Given the description of an element on the screen output the (x, y) to click on. 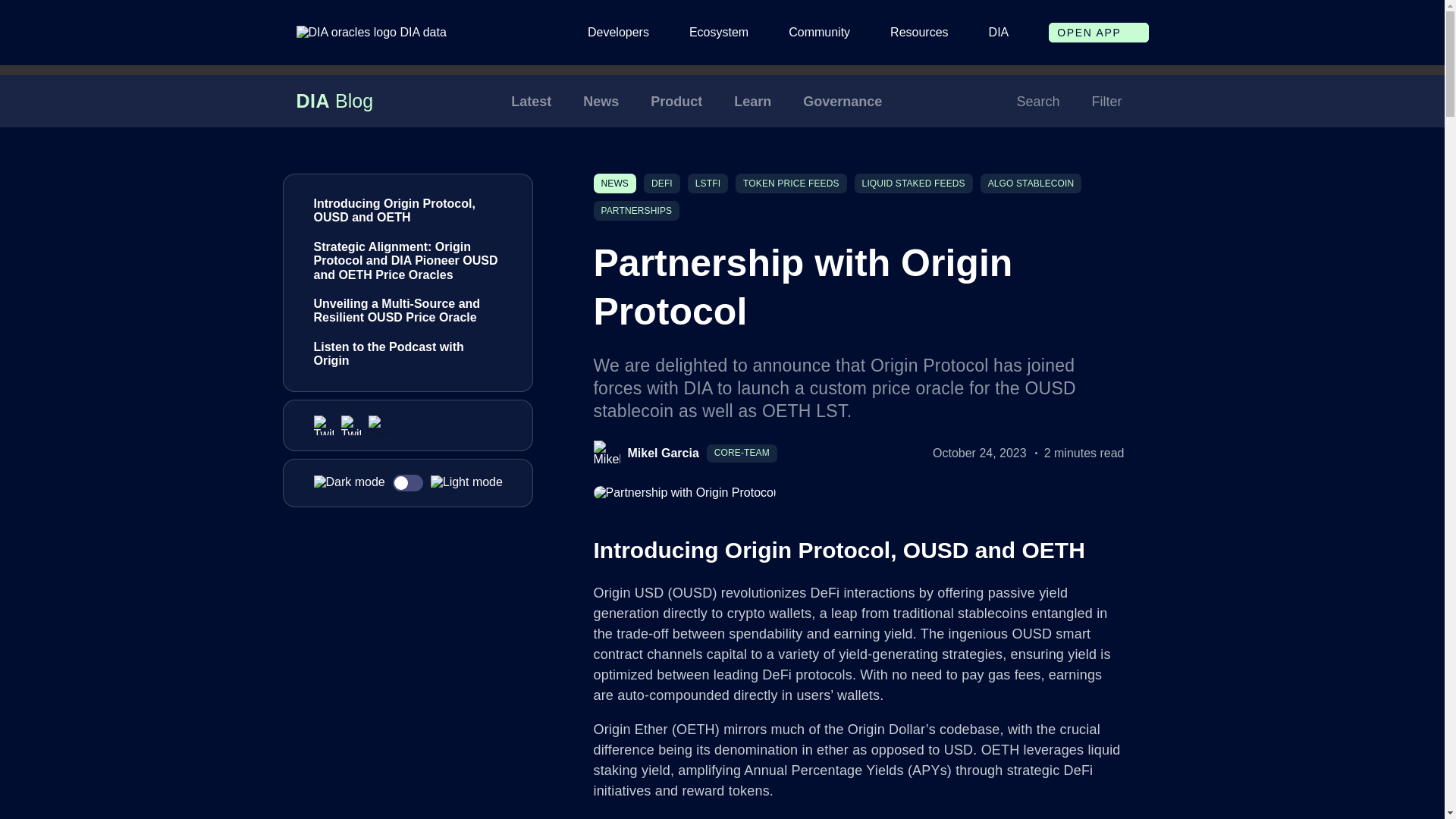
Developers (618, 31)
